Given the description of an element on the screen output the (x, y) to click on. 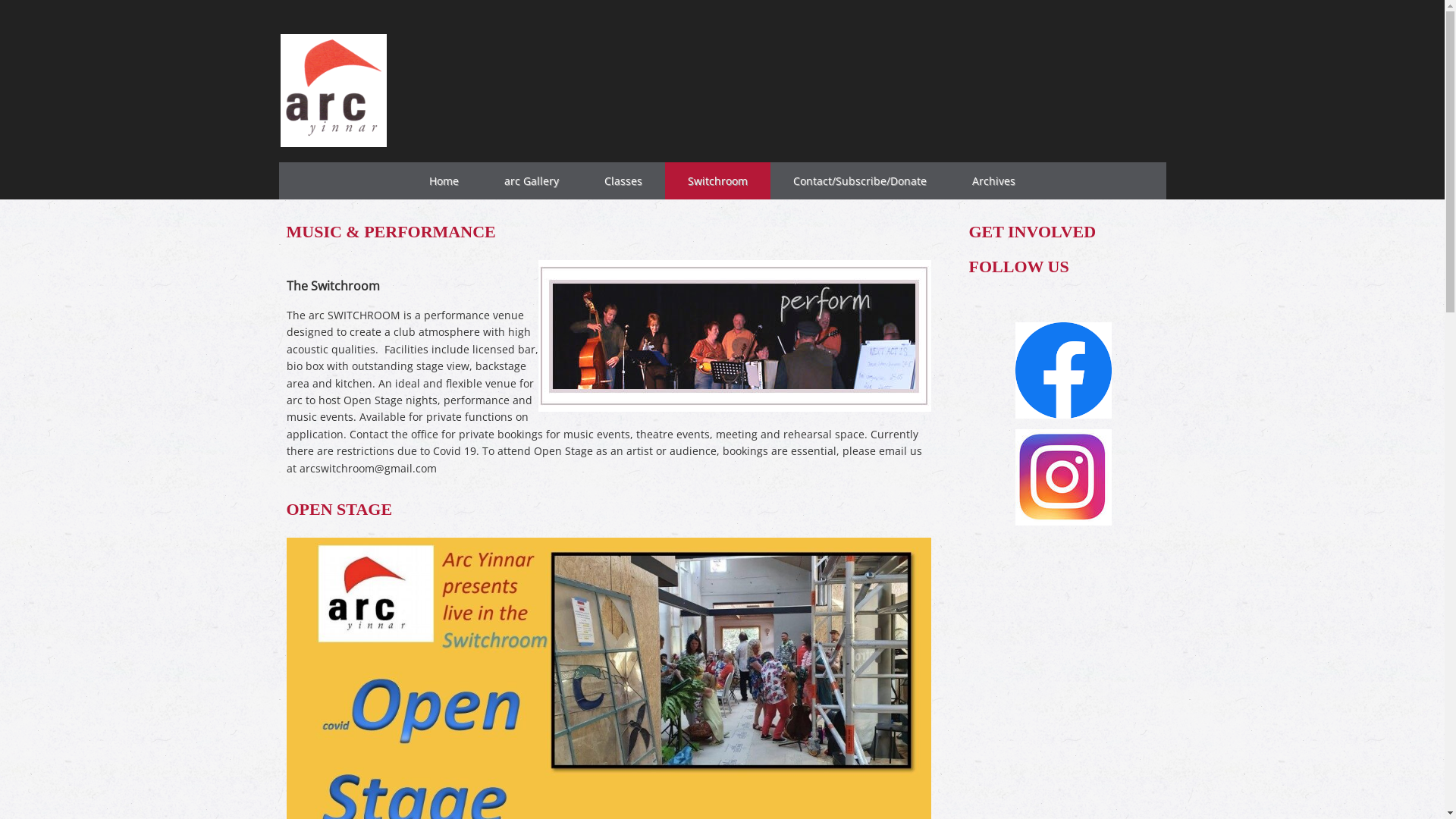
Classes Element type: text (623, 180)
arc Gallery Element type: text (531, 180)
Switchroom Element type: text (717, 180)
Home Element type: text (443, 180)
Links to https://www.instagram.com/arcyinnar/?hl=en Element type: hover (1063, 477)
Contact/Subscribe/Donate Element type: text (859, 180)
GET INVOLVED Element type: text (1032, 231)
Archives Element type: text (993, 180)
